Given the description of an element on the screen output the (x, y) to click on. 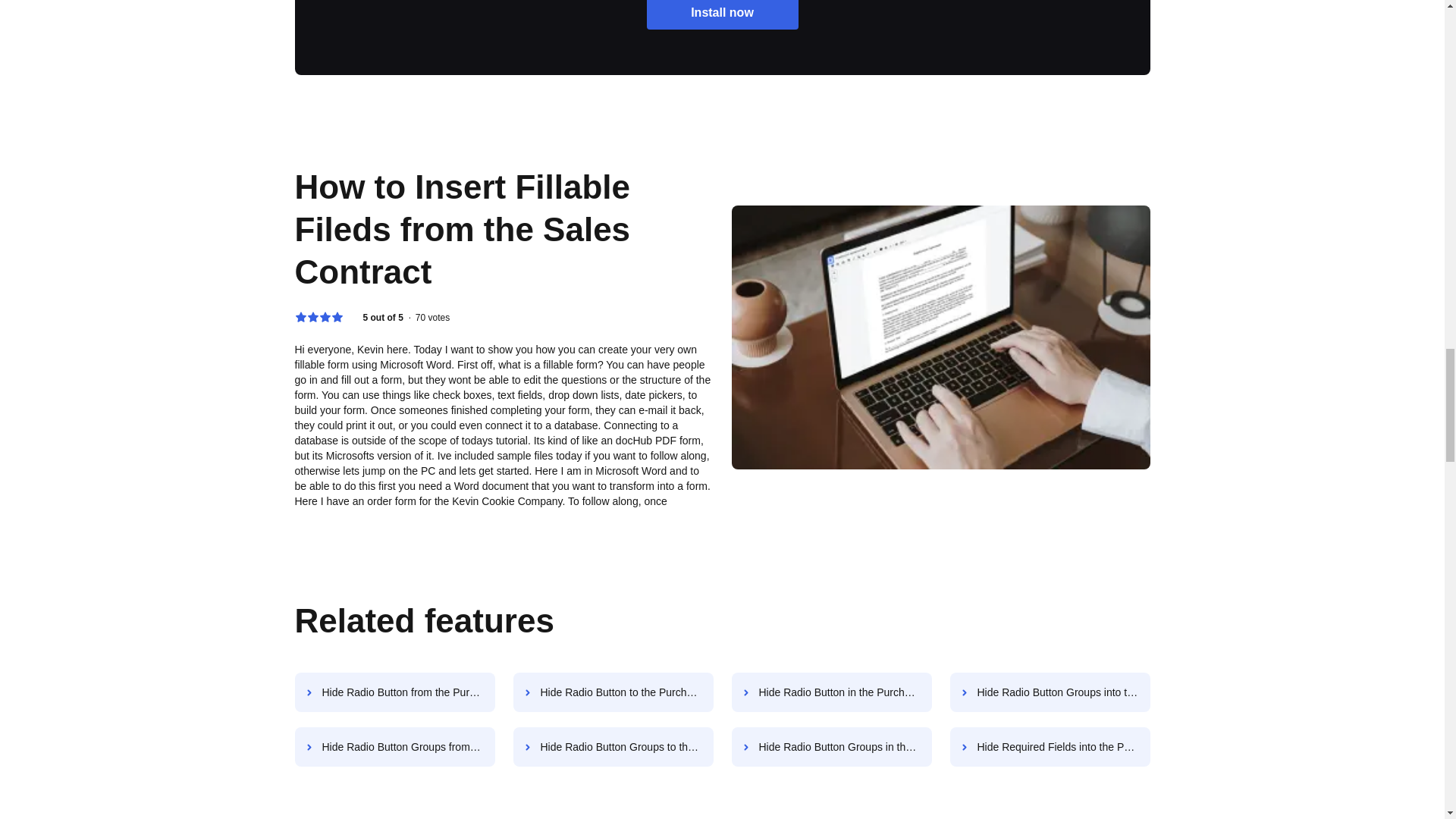
Hide Radio Button Groups into the Purchase Order (1049, 691)
Hide Radio Button Groups from the Purchase Order (394, 746)
Hide Required Fields into the Purchase Order (1049, 746)
Hide Radio Button in the Purchase Order (830, 691)
Hide Radio Button to the Purchase Order (612, 691)
Hide Radio Button Groups in the Purchase Order (830, 746)
Install now (721, 14)
Hide Radio Button Groups to the Purchase Order (612, 746)
Hide Radio Button from the Purchase Order (394, 691)
